Given the description of an element on the screen output the (x, y) to click on. 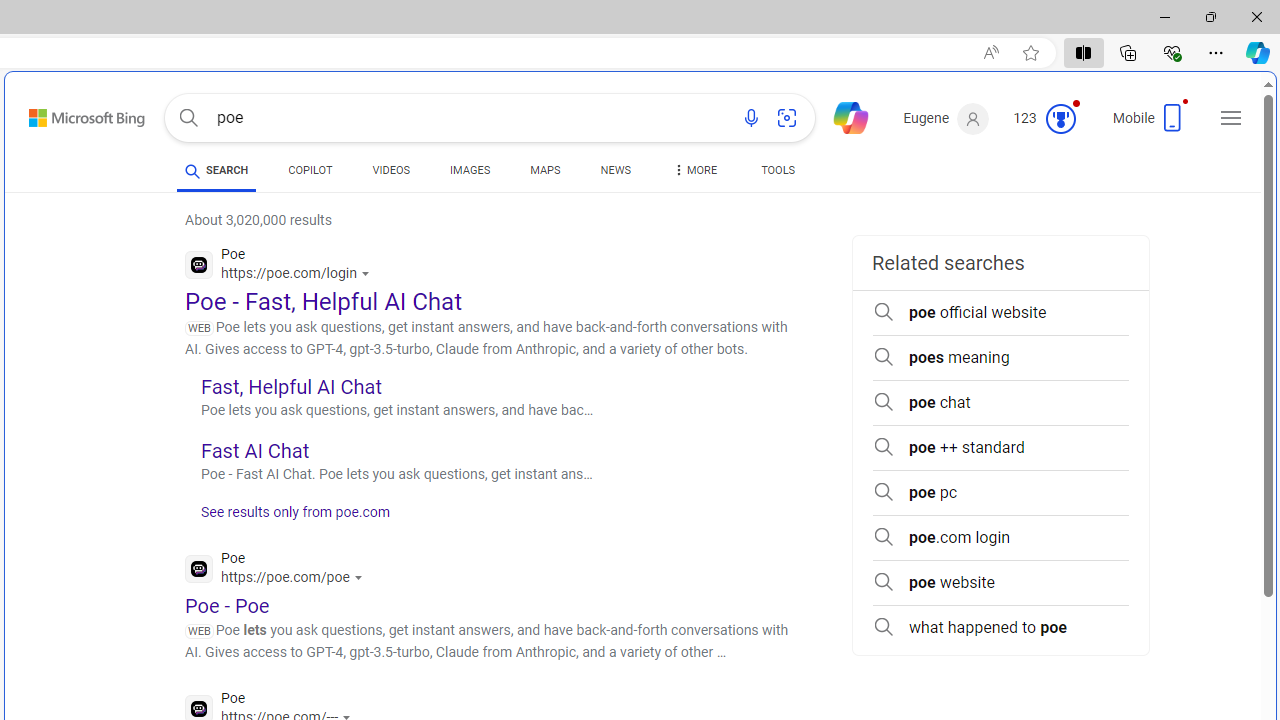
SEARCH (216, 170)
Eugene (945, 119)
See results only from poe.com (287, 517)
NEWS (614, 173)
Chat (842, 116)
poe.com login (1000, 538)
Back to Bing search (74, 113)
Chat (842, 116)
SEARCH (216, 170)
